Given the description of an element on the screen output the (x, y) to click on. 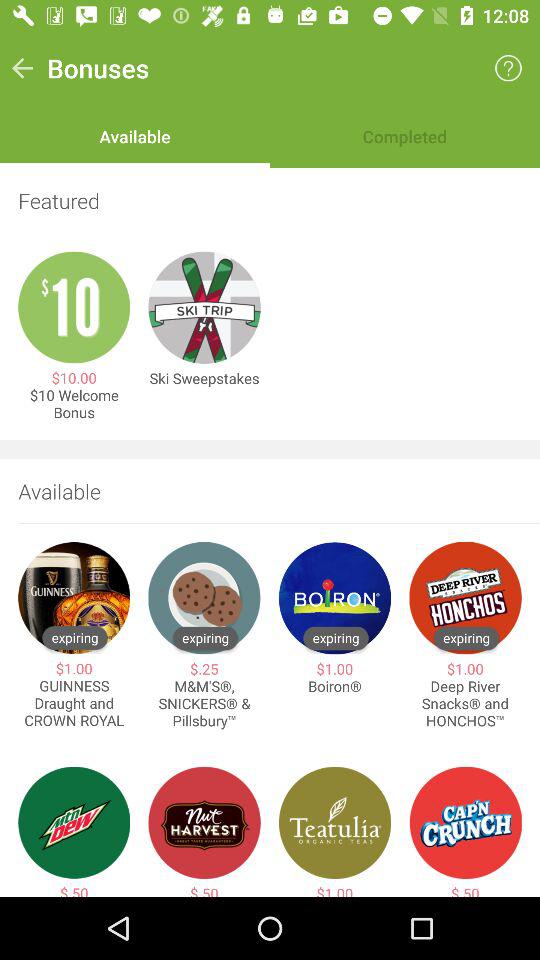
tap the icon to the left of the bonuses icon (22, 67)
